Given the description of an element on the screen output the (x, y) to click on. 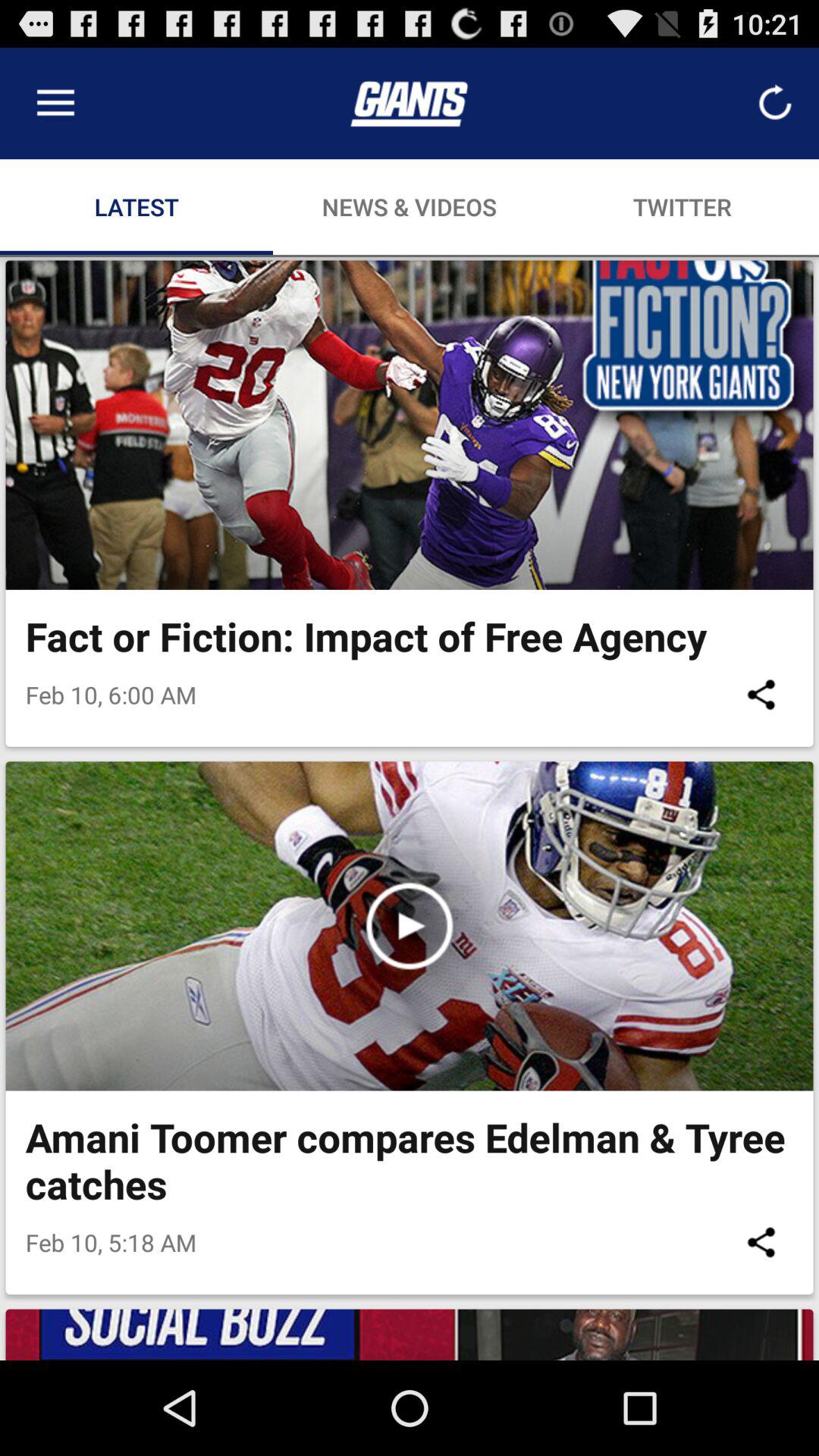
select share icon at the right side bottom of the page (761, 1242)
click on the image which is above fact or fiction impact of free agency (409, 424)
move to twitter tab (682, 206)
